Given the description of an element on the screen output the (x, y) to click on. 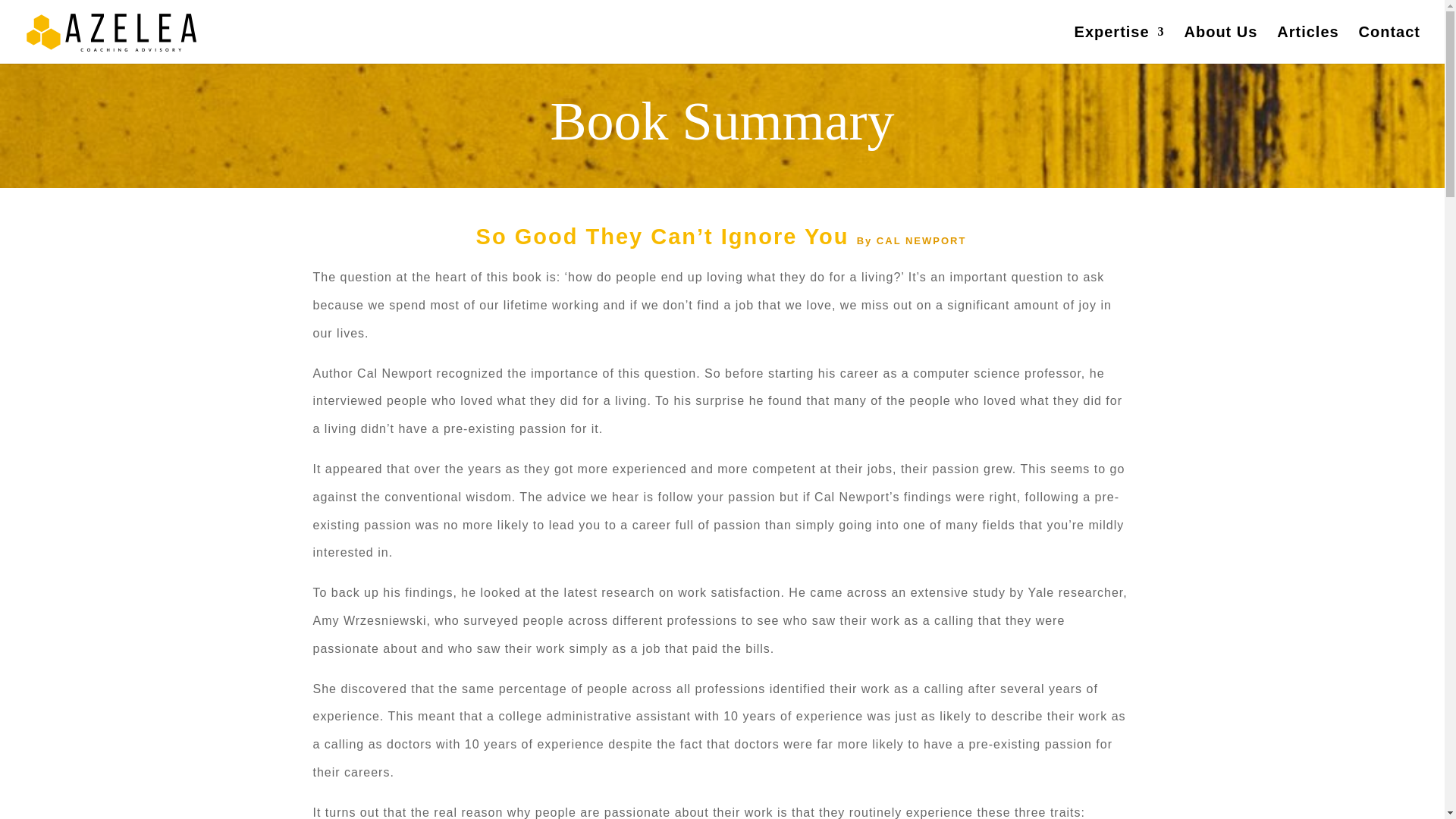
Articles (1307, 44)
About Us (1221, 44)
Expertise (1119, 44)
Contact (1389, 44)
